Given the description of an element on the screen output the (x, y) to click on. 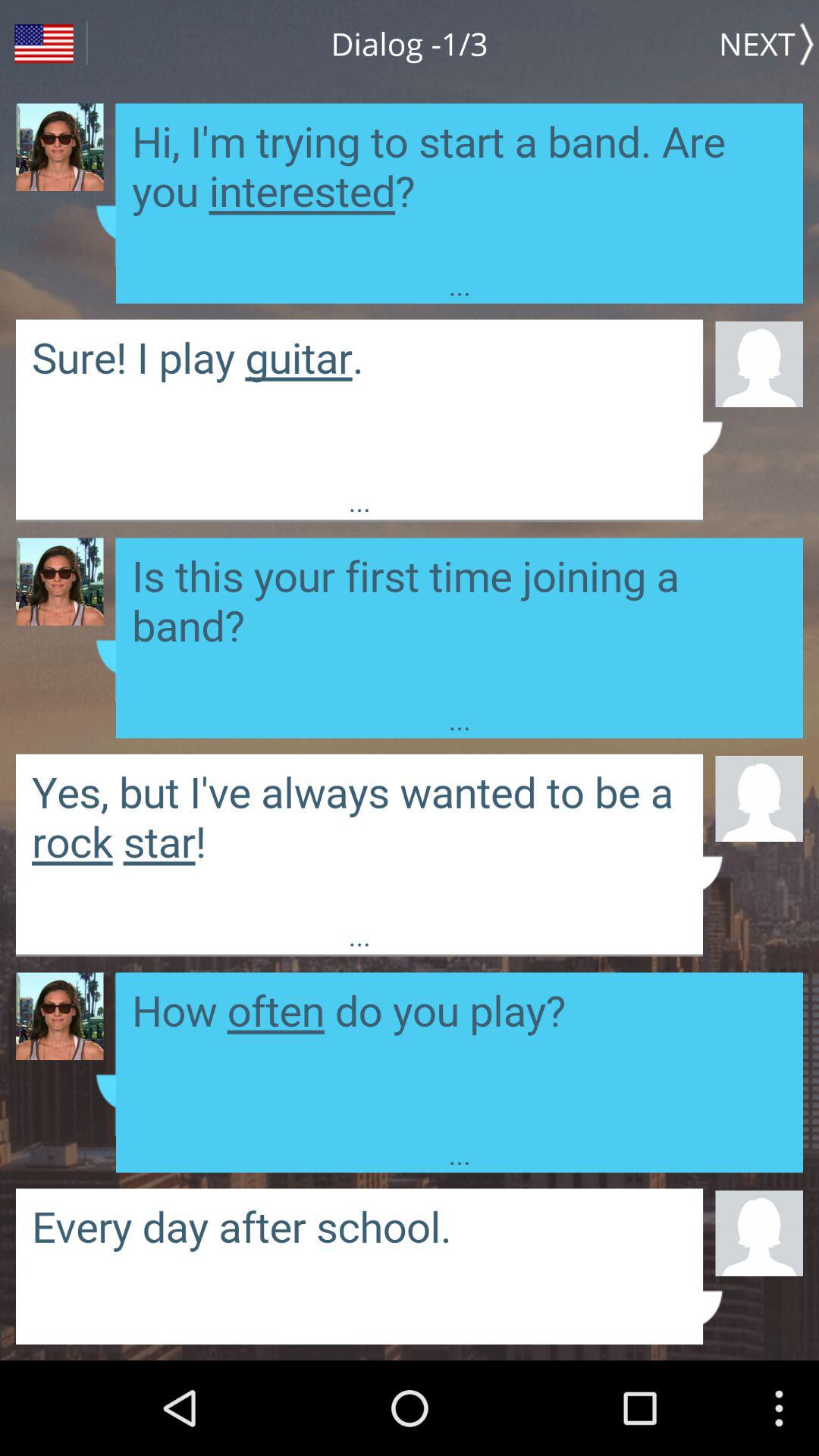
launch the item on the right (759, 797)
